Given the description of an element on the screen output the (x, y) to click on. 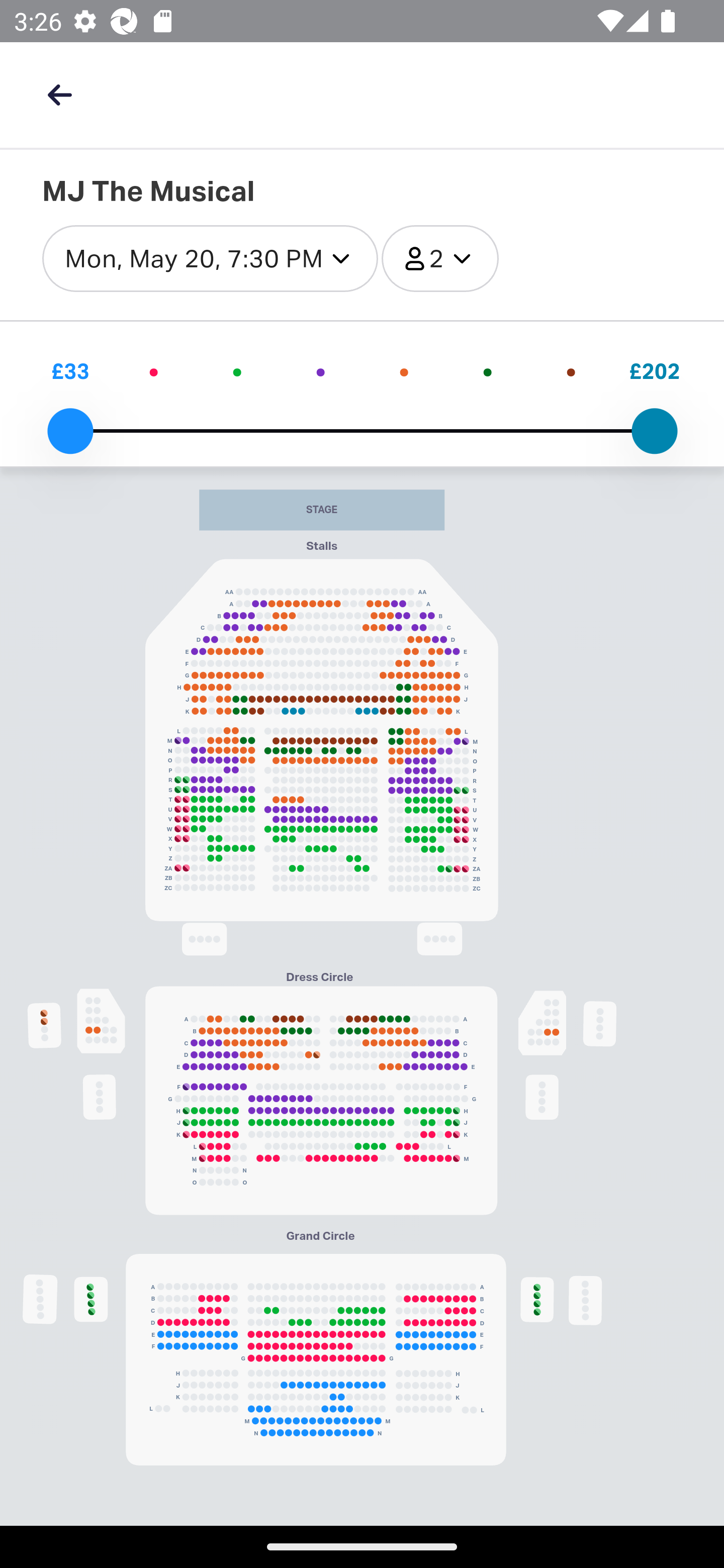
back button (59, 94)
Mon, May 20, 7:30 PM (209, 259)
2 (439, 259)
£33 (70, 370)
• (153, 370)
• (236, 370)
• (320, 370)
• (403, 370)
• (488, 370)
• (570, 370)
£202 (653, 370)
0.0 (69, 431)
100.0 (654, 431)
